Given the description of an element on the screen output the (x, y) to click on. 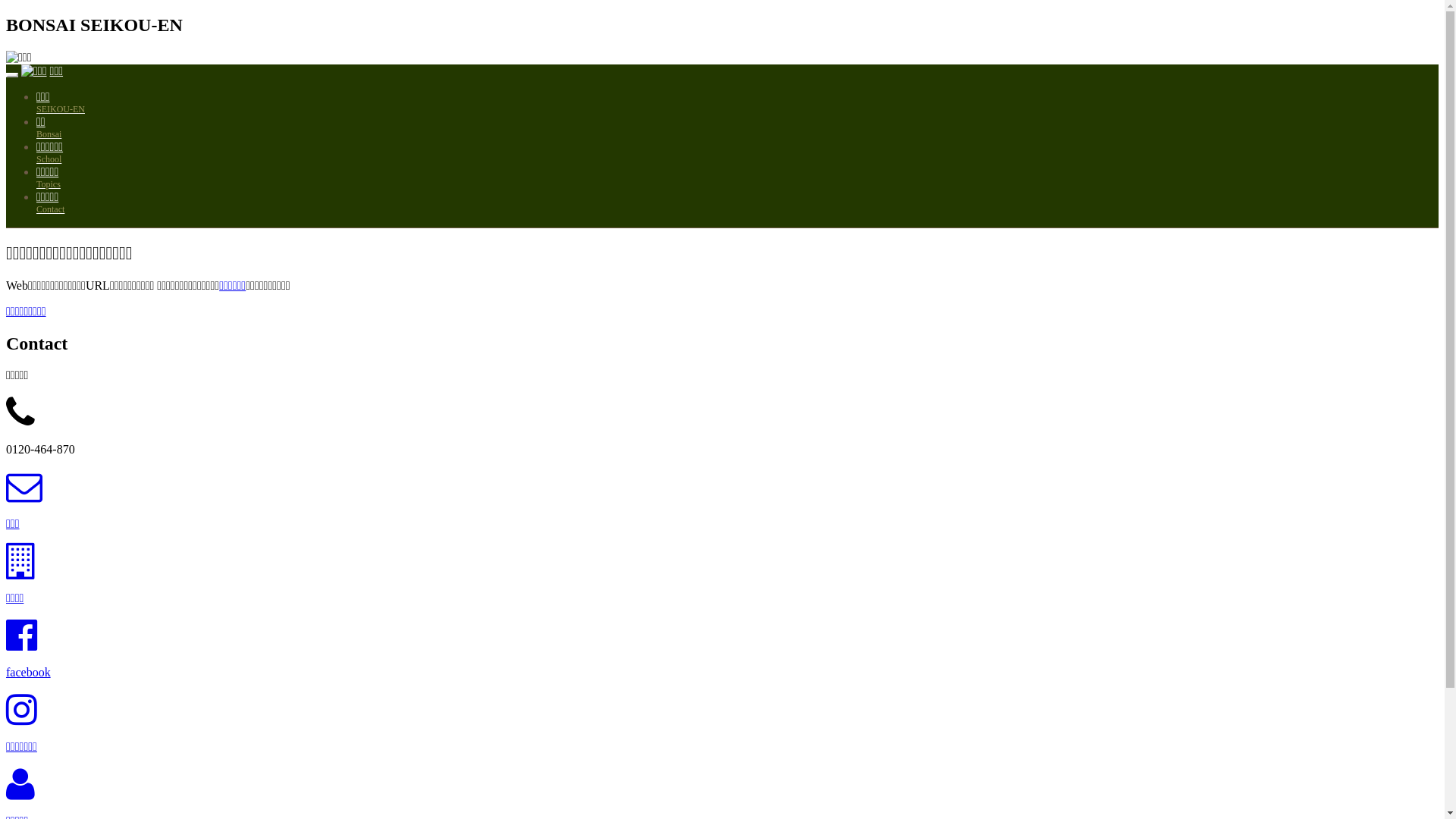
facebook Element type: text (28, 671)
